Given the description of an element on the screen output the (x, y) to click on. 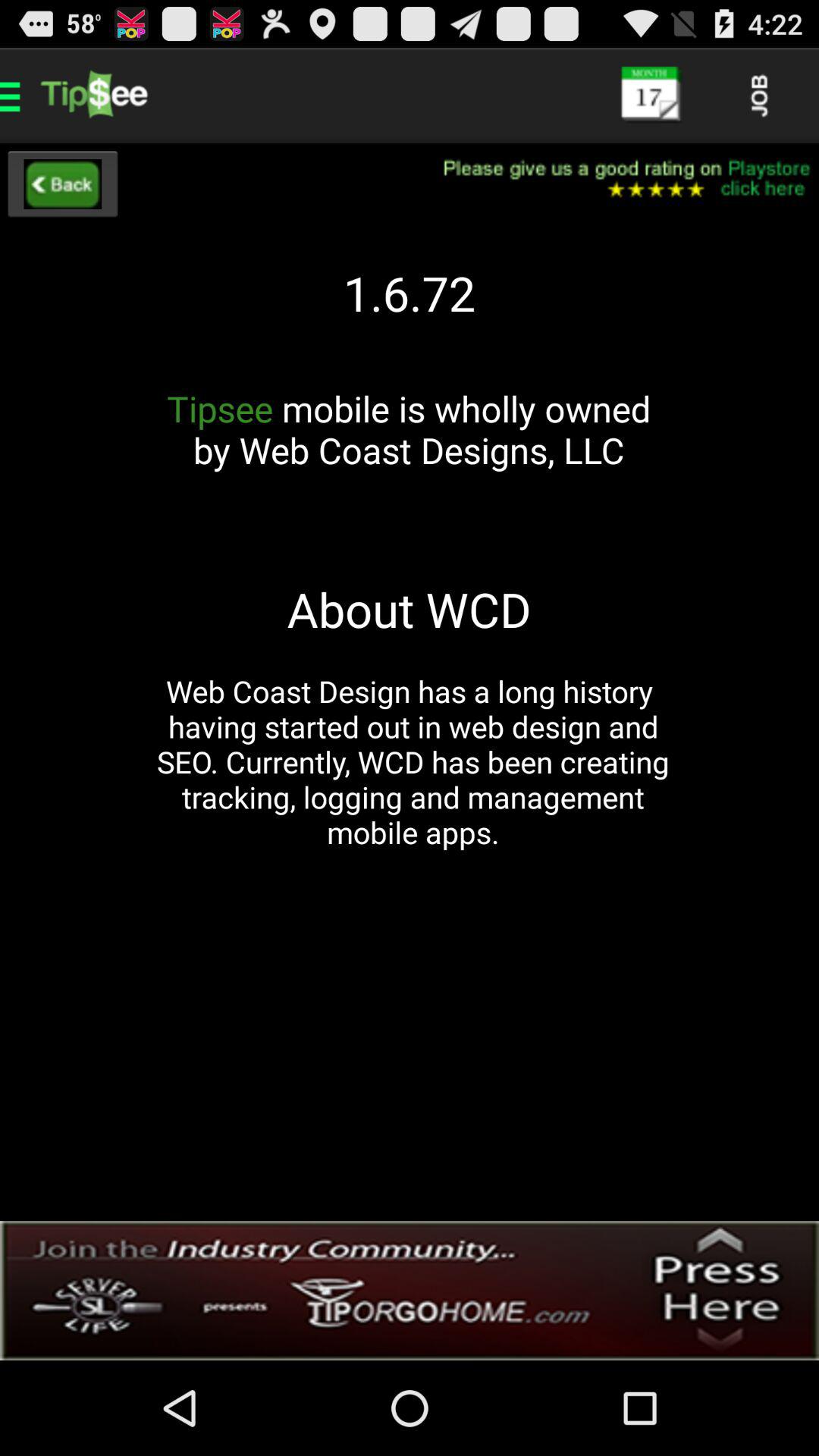
turn on the tipsee mobile is (409, 450)
